Given the description of an element on the screen output the (x, y) to click on. 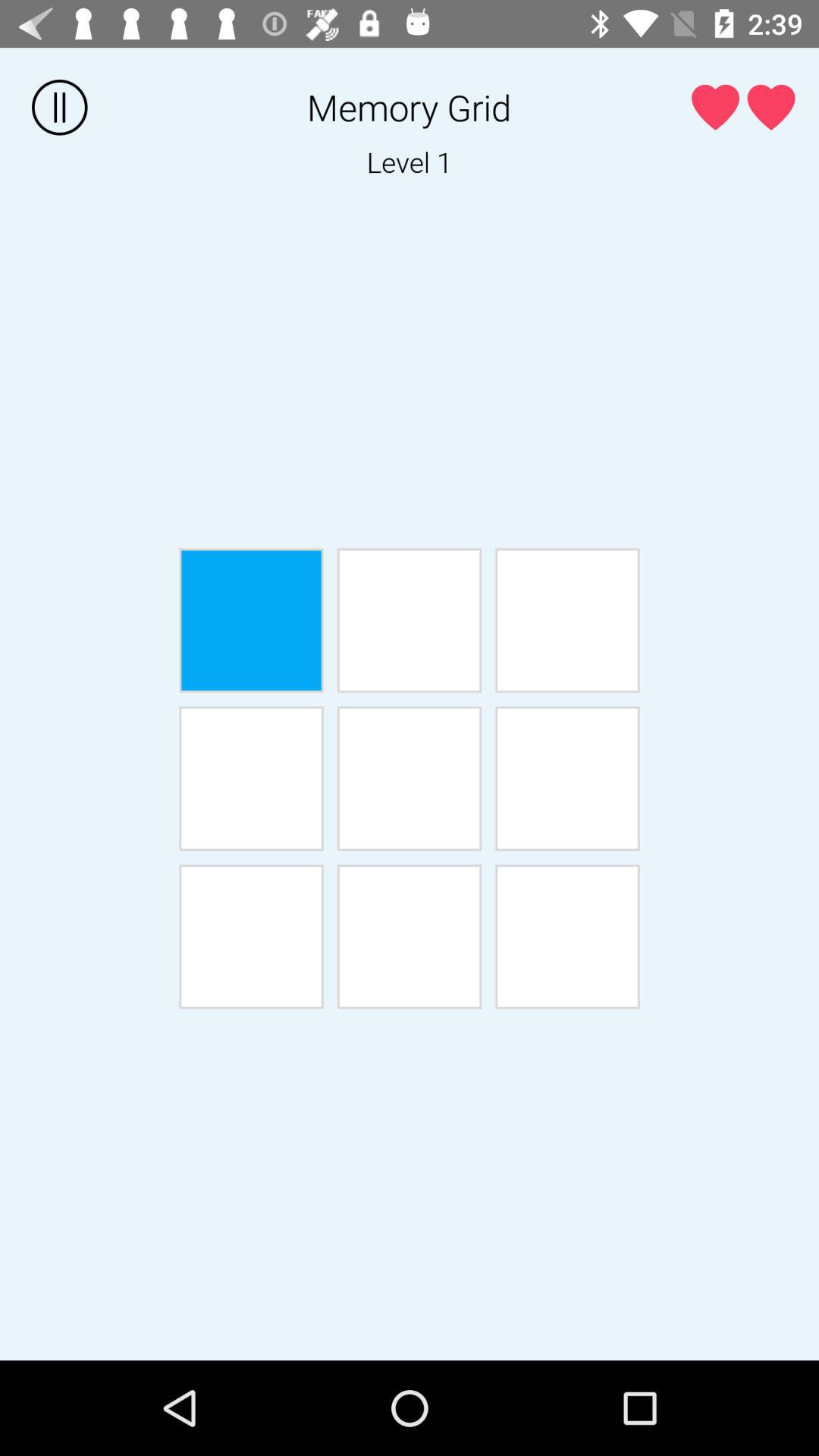
next players turn (251, 936)
